Given the description of an element on the screen output the (x, y) to click on. 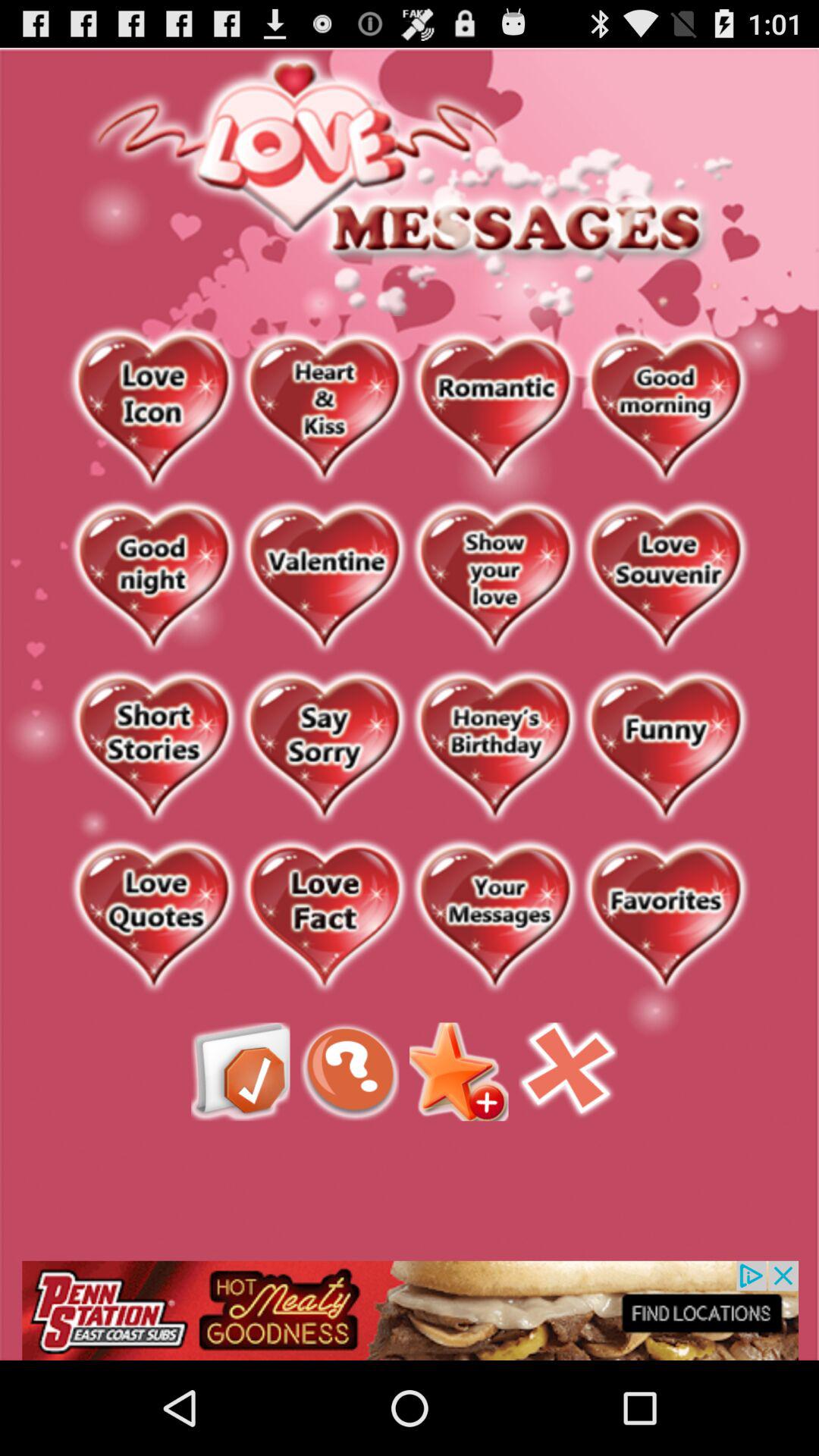
advertisement (409, 1310)
